Given the description of an element on the screen output the (x, y) to click on. 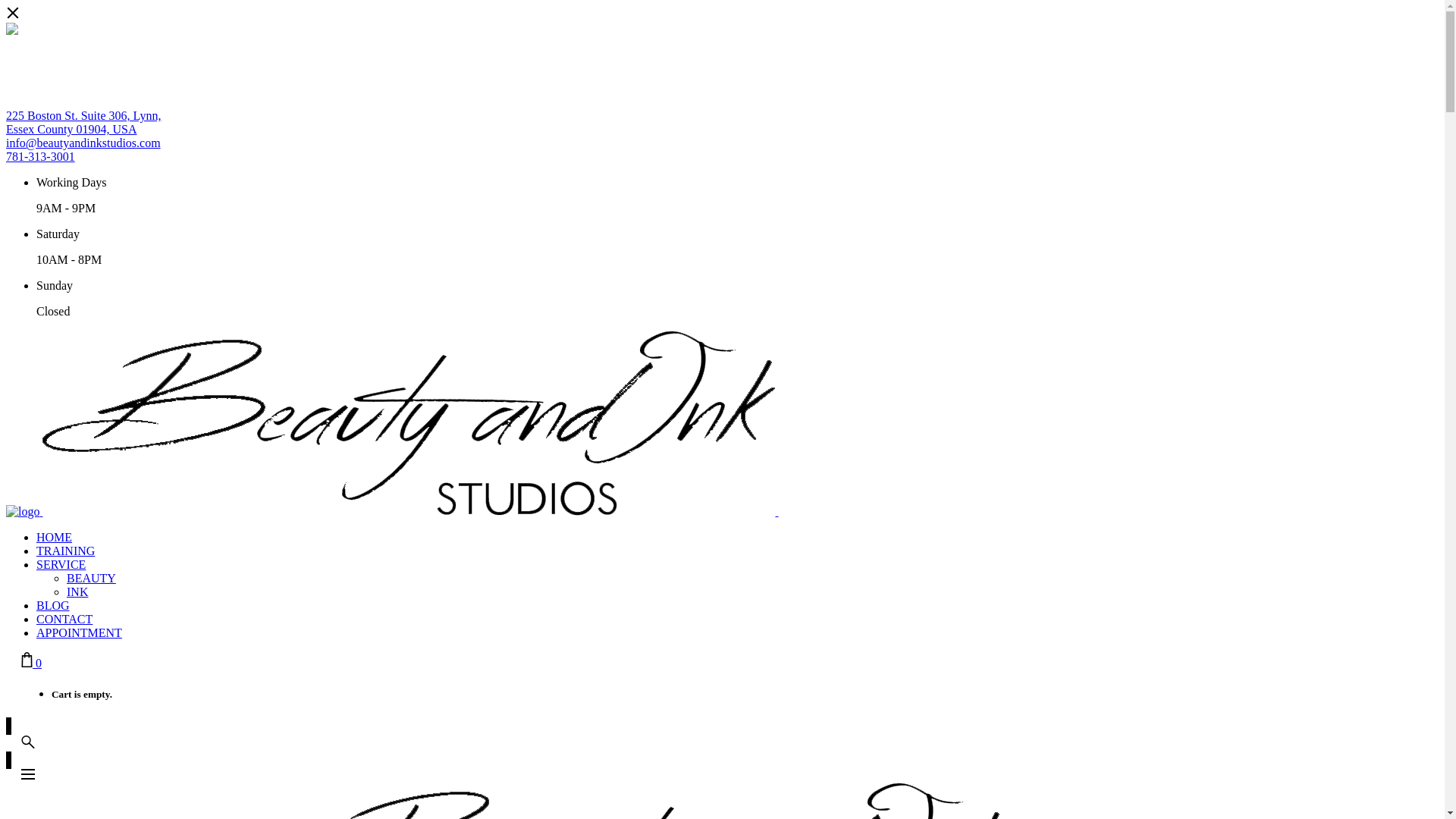
BLOG Element type: text (52, 605)
APPOINTMENT Element type: text (79, 632)
CONTACT Element type: text (64, 618)
781-313-3001 Element type: text (40, 156)
info@beautyandinkstudios.com Element type: text (83, 142)
BEAUTY Element type: text (91, 577)
SERVICE Element type: text (60, 564)
0 Element type: text (31, 662)
INK Element type: text (76, 591)
225 Boston St. Suite 306, Lynn,
Essex County 01904, USA Element type: text (83, 122)
HOME Element type: text (54, 536)
TRAINING Element type: text (65, 550)
